Given the description of an element on the screen output the (x, y) to click on. 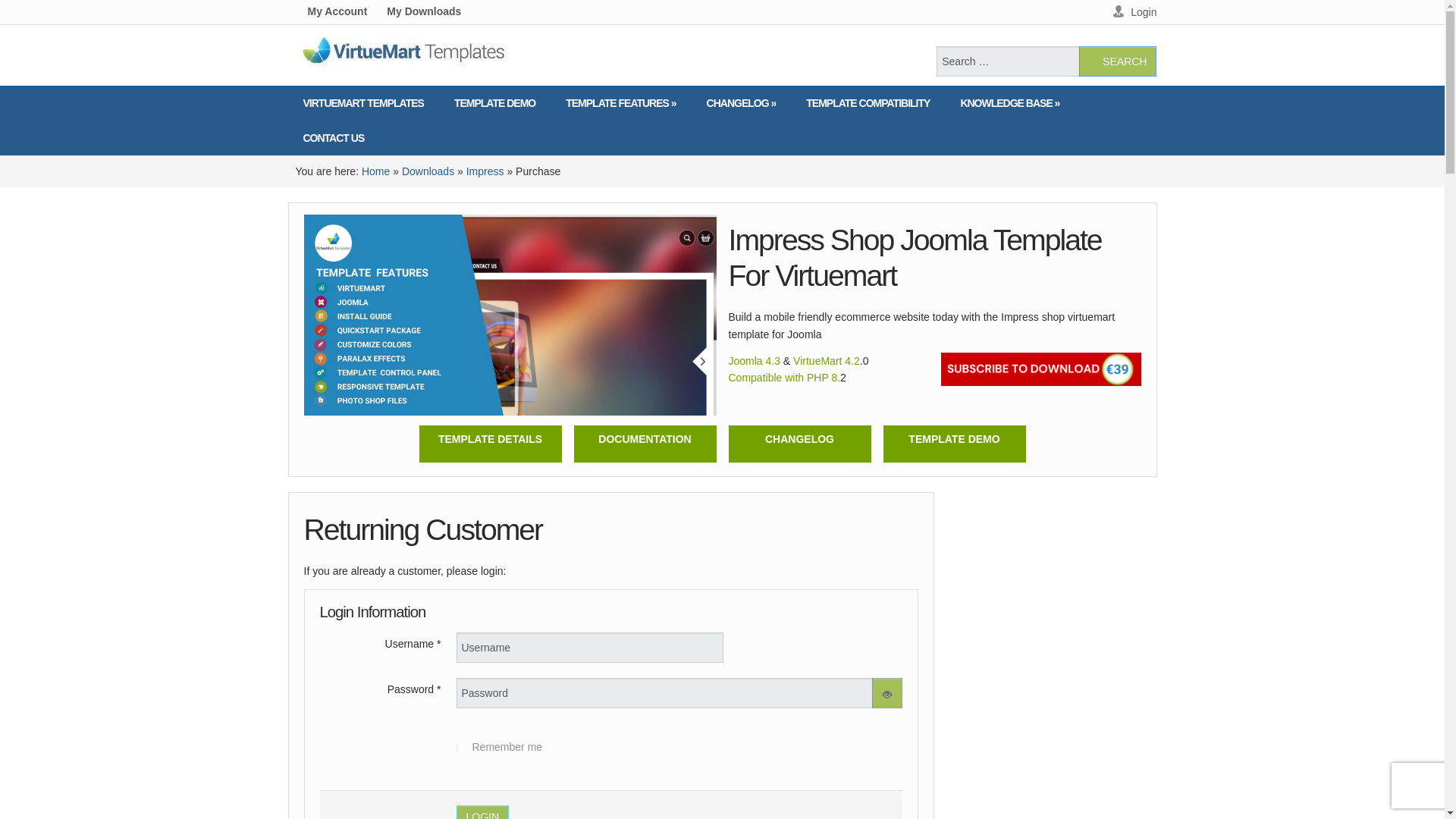
Home (375, 171)
Downloads (427, 171)
TEMPLATE DEMO (494, 102)
LOGIN (483, 812)
Joomla 4.3 (753, 360)
Buy Theon Virtuemart Template (1040, 368)
TEMPLATE DEMO (953, 439)
Impress Virtuemart Templates Documentation (644, 439)
DOCUMENTATION (644, 439)
My Account (337, 9)
SEARCH (1117, 60)
SHOW PASSWORD (887, 693)
Impress Virtuemart Templates (489, 439)
VIRTUEMART TEMPLATES (363, 102)
VirtueMart 4.2 (826, 360)
